Given the description of an element on the screen output the (x, y) to click on. 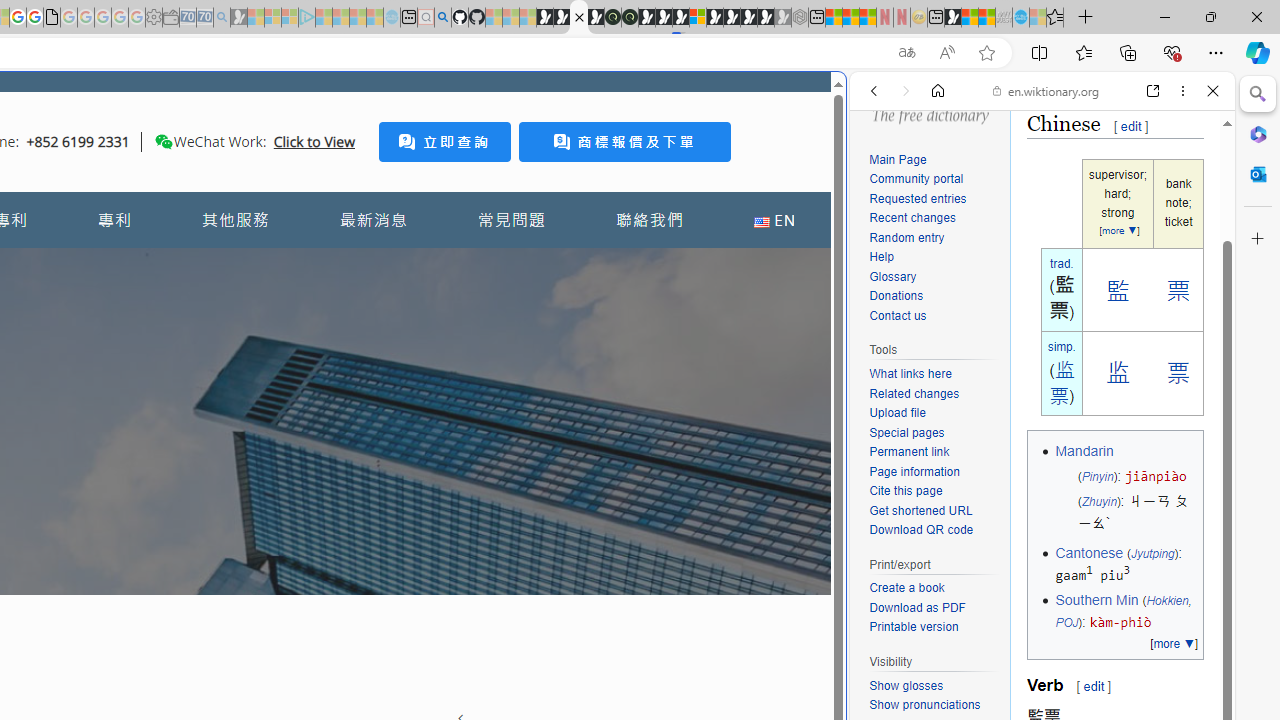
Contact us (934, 316)
Bing Real Estate - Home sales and rental listings - Sleeping (221, 17)
Upload file (934, 413)
Frequently visited (418, 265)
Create a book (906, 588)
Show translate options (906, 53)
google_privacy_policy_zh-CN.pdf (51, 17)
This site scope (936, 180)
WEB   (882, 228)
Printable version (934, 627)
Contact us (897, 315)
Special pages (906, 431)
